Given the description of an element on the screen output the (x, y) to click on. 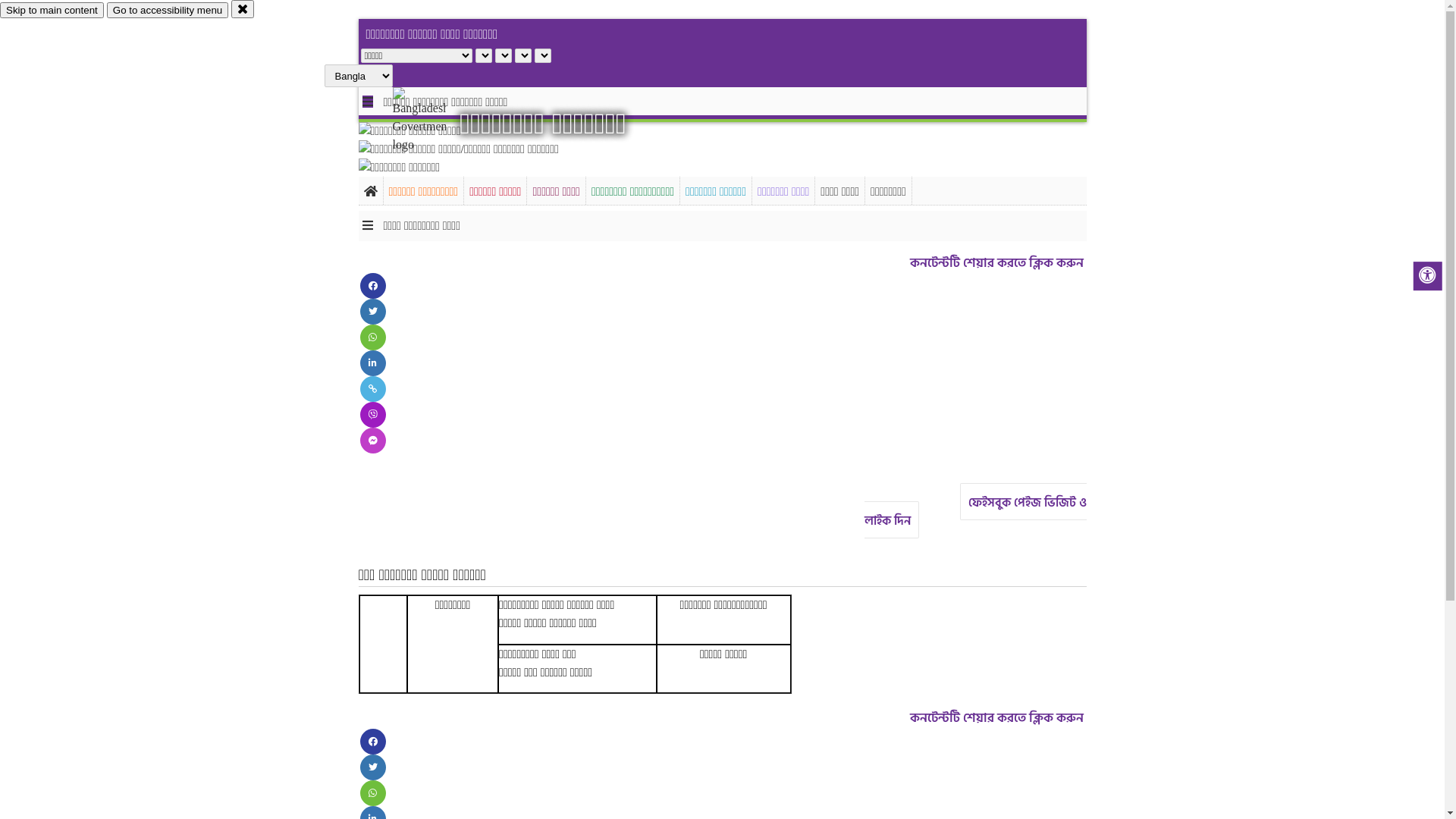
Go to accessibility menu Element type: text (167, 10)
Skip to main content Element type: text (51, 10)

                
             Element type: hover (431, 120)
close Element type: hover (242, 9)
